Given the description of an element on the screen output the (x, y) to click on. 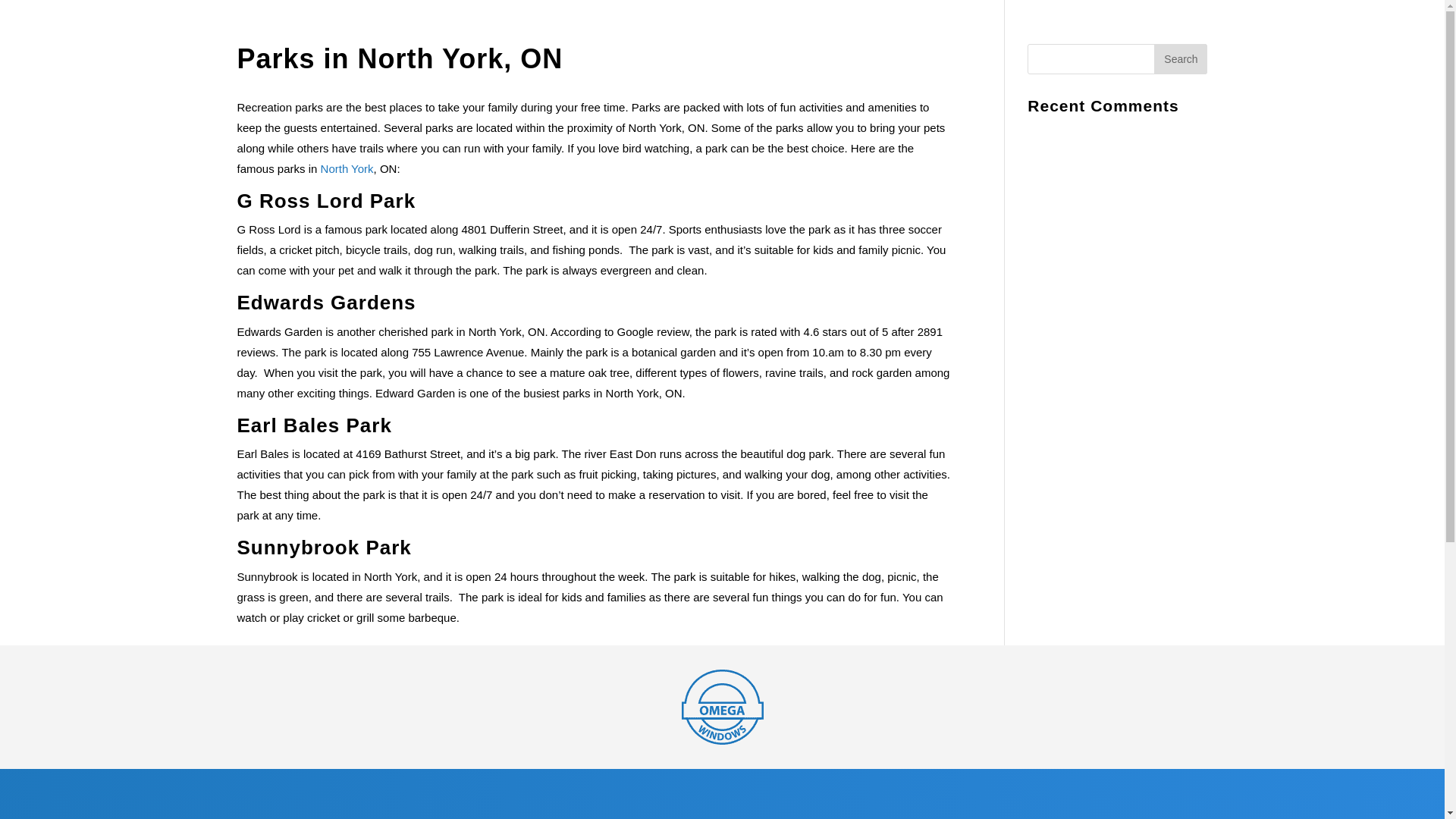
Search (1180, 59)
logo (721, 706)
